Given the description of an element on the screen output the (x, y) to click on. 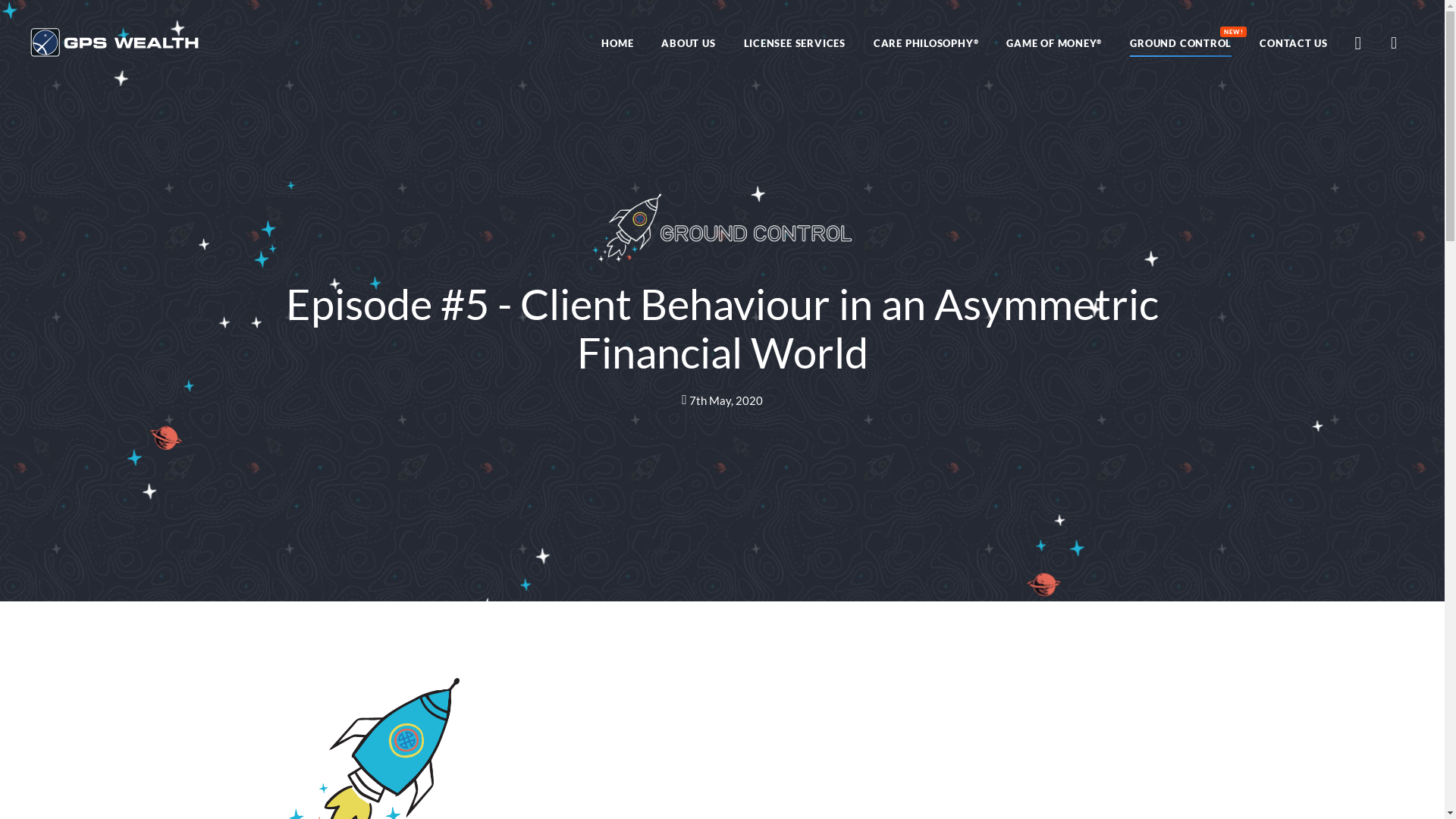
GROUND CONTROL
NEW! Element type: text (1180, 43)
ABOUT US Element type: text (688, 43)
CONTACT US Element type: text (1293, 43)
LICENSEE SERVICES Element type: text (794, 43)
HOME Element type: text (617, 43)
